Given the description of an element on the screen output the (x, y) to click on. 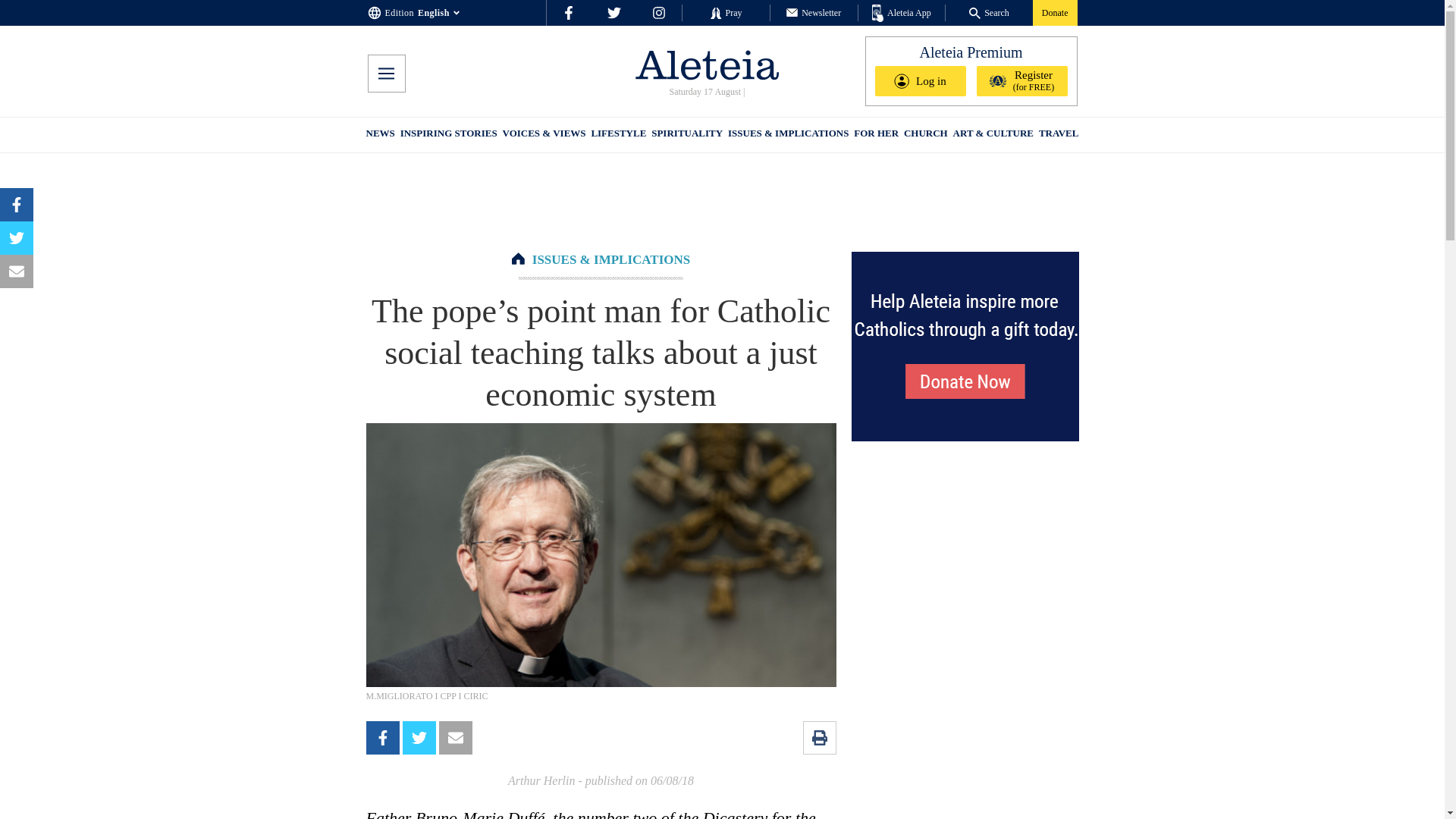
Donate (1054, 12)
LIFESTYLE (618, 134)
Newsletter (813, 12)
Log in (920, 81)
SPIRITUALITY (686, 134)
INSPIRING STORIES (448, 134)
Pray (725, 12)
TRAVEL (1058, 134)
FOR HER (875, 134)
3rd party ad content (722, 202)
